Given the description of an element on the screen output the (x, y) to click on. 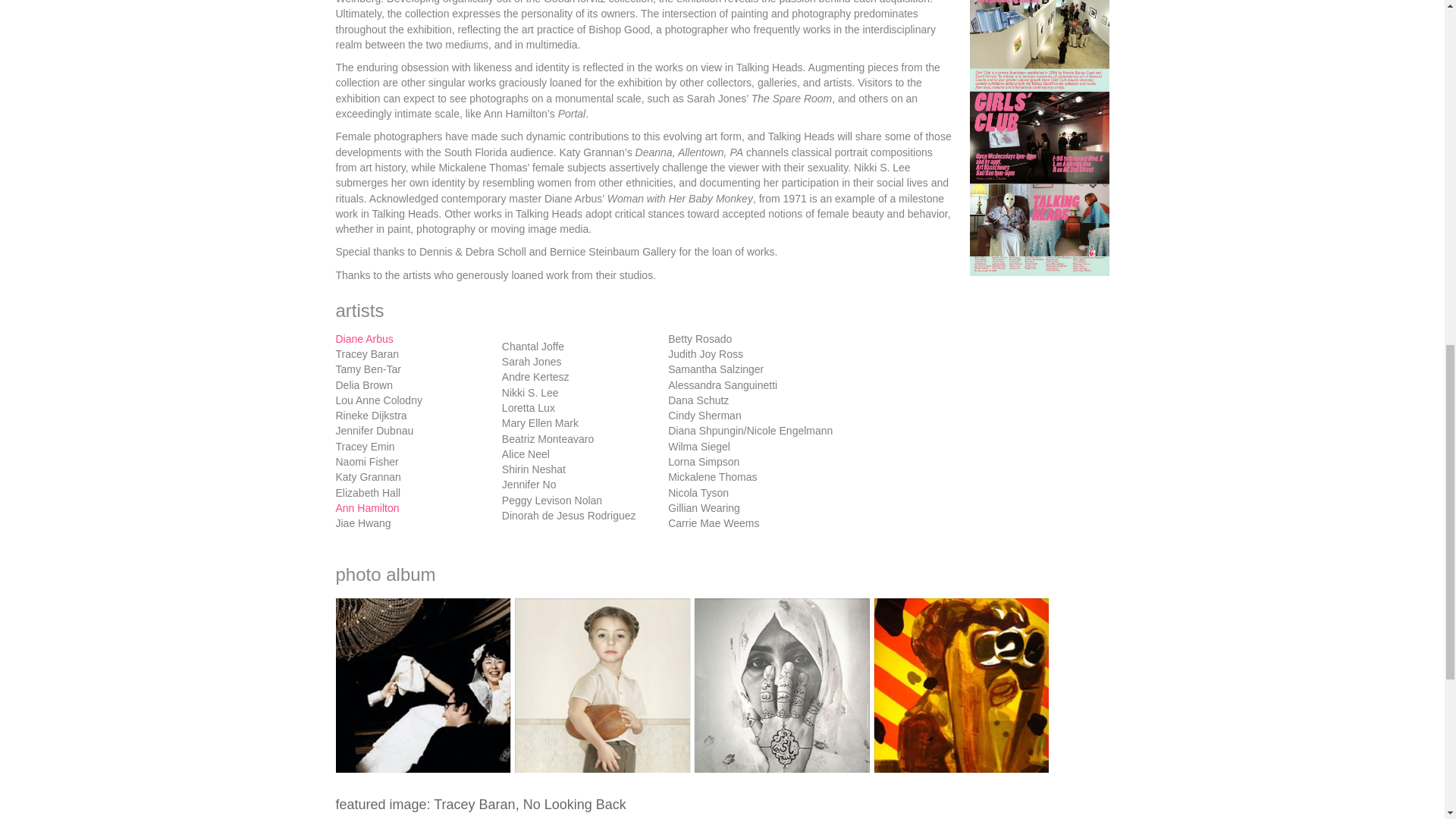
Diane Arbus (363, 338)
Ann Hamilton (366, 508)
Ann Hamilton (366, 508)
Diane Arbus (363, 338)
